Given the description of an element on the screen output the (x, y) to click on. 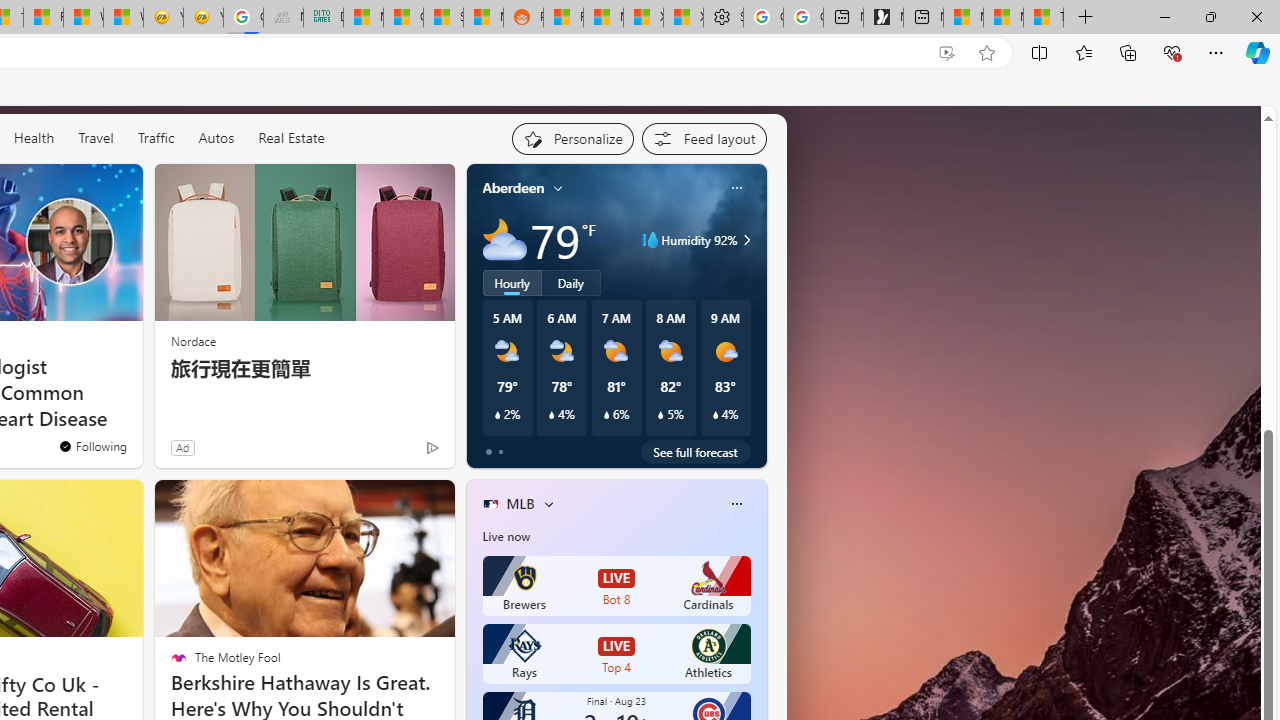
Autos (216, 138)
Health (33, 138)
Brewers LIVE Bot 8 Cardinals (616, 585)
tab-0 (488, 451)
Ad Choice (432, 447)
Travel (95, 138)
Aberdeen (513, 188)
R******* | Trusted Community Engagement and Contributions (563, 17)
Fitness - MSN (43, 17)
